Given the description of an element on the screen output the (x, y) to click on. 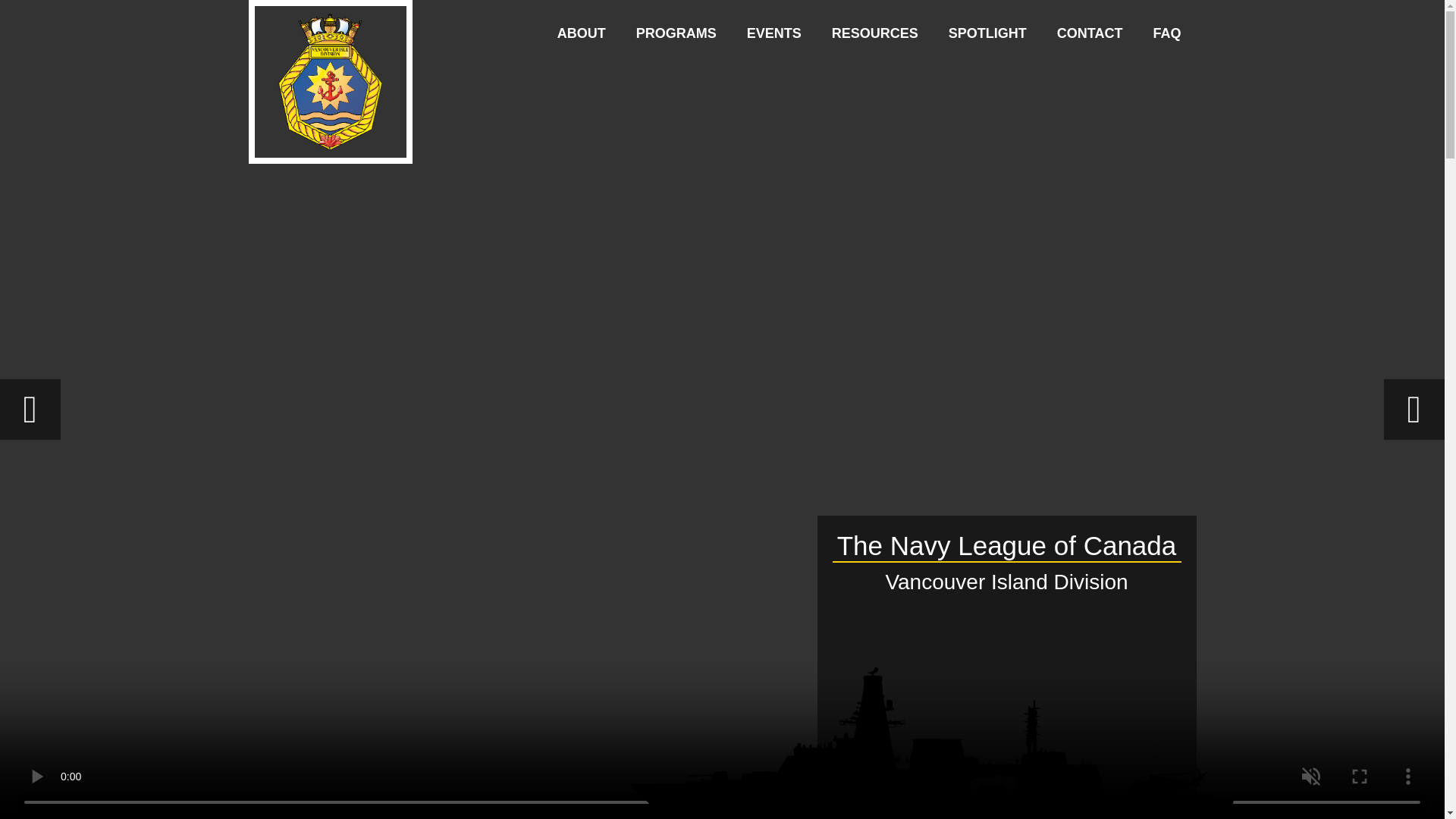
PROGRAMS (676, 33)
RESOURCES (874, 33)
CONTACT (1089, 33)
SPOTLIGHT (987, 33)
